Given the description of an element on the screen output the (x, y) to click on. 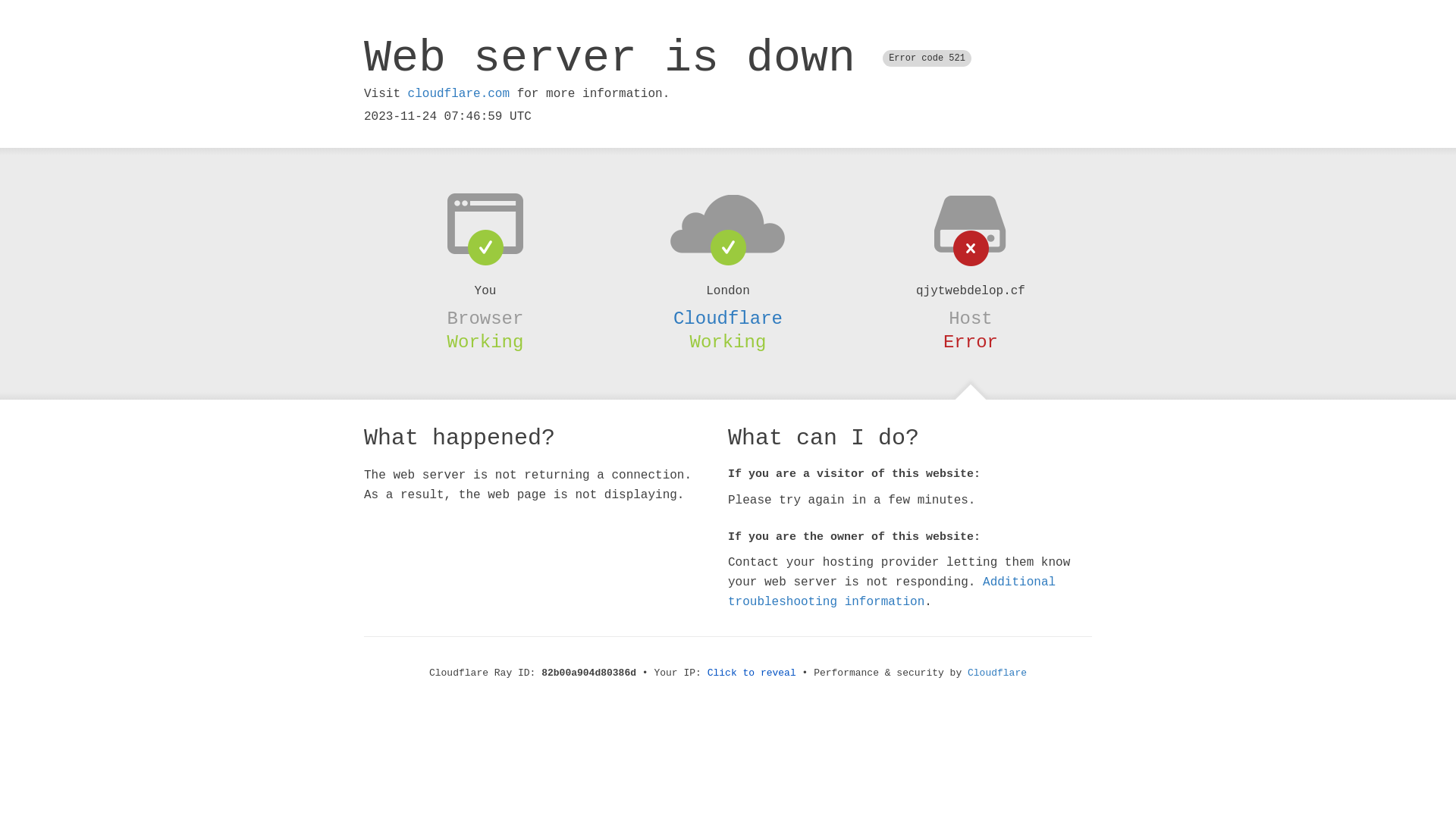
Additional troubleshooting information Element type: text (891, 591)
Cloudflare Element type: text (996, 672)
Click to reveal Element type: text (751, 672)
cloudflare.com Element type: text (458, 93)
Cloudflare Element type: text (727, 318)
